Given the description of an element on the screen output the (x, y) to click on. 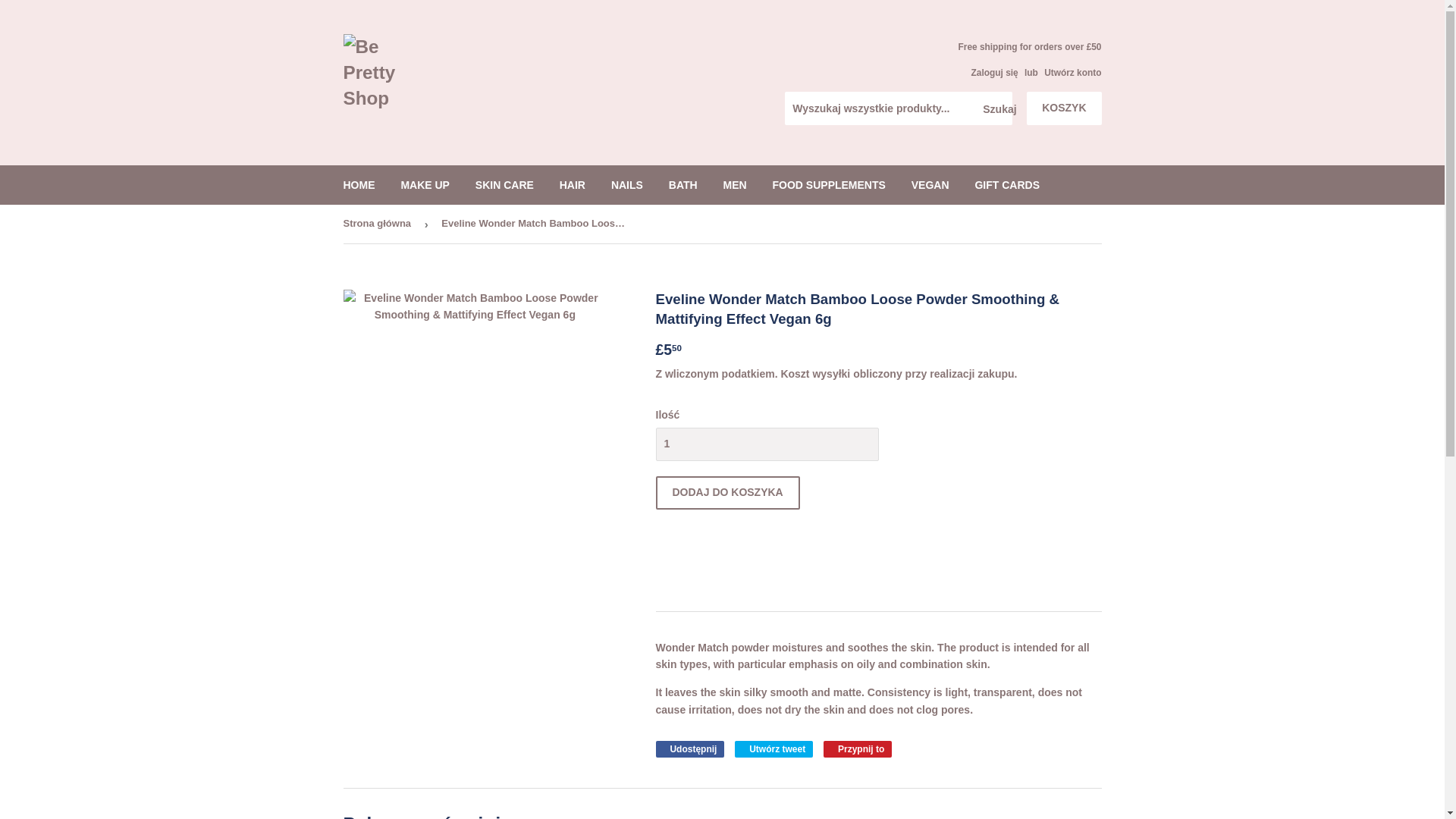
KOSZYK (1063, 108)
Szukaj (994, 109)
1 (766, 444)
Tweetuj na Twitterze (773, 749)
Przypnij do tablicy Pinterest (857, 749)
